Given the description of an element on the screen output the (x, y) to click on. 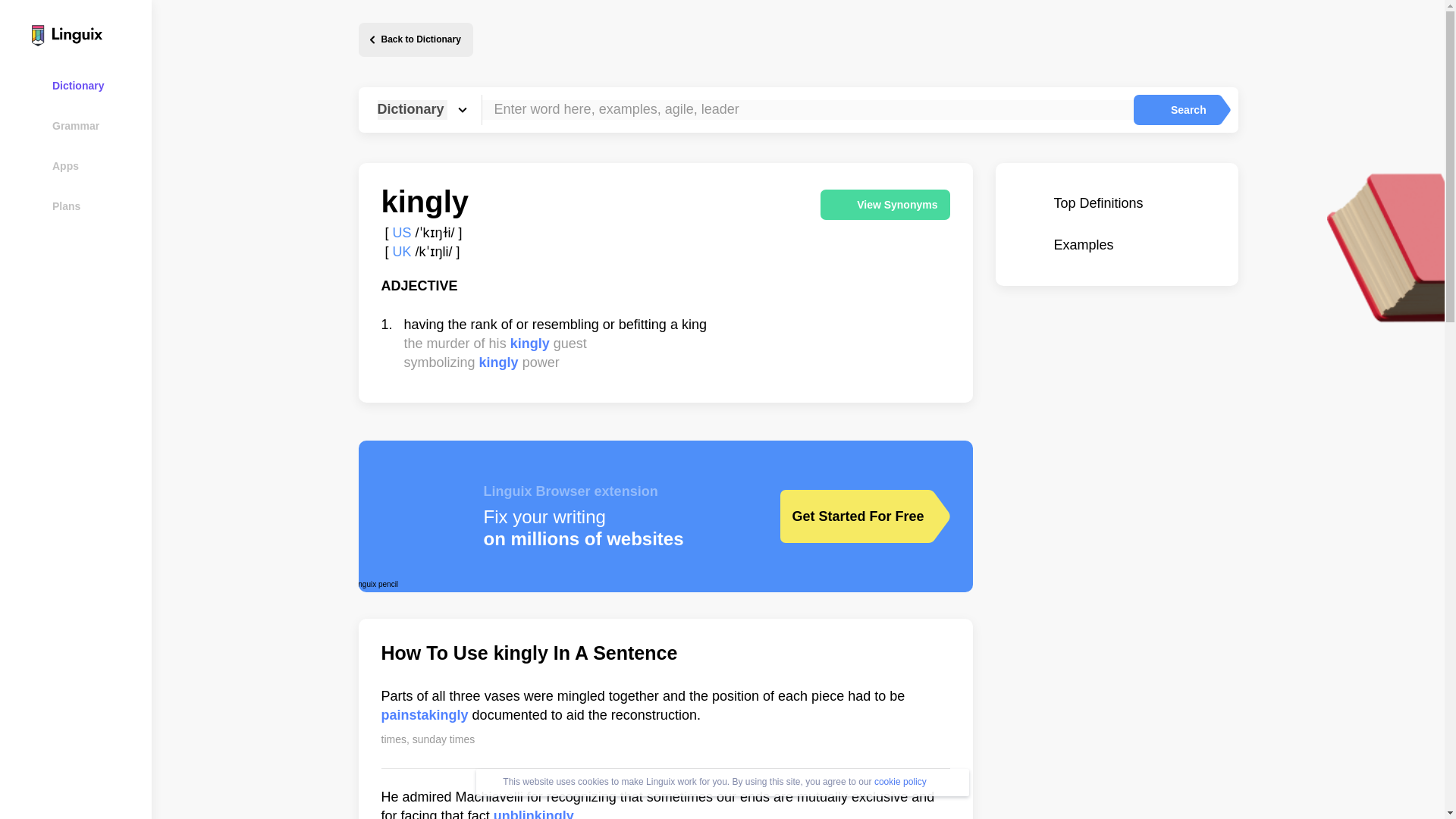
Top Definitions (1115, 203)
cookie policy (900, 781)
View Synonyms (885, 204)
Grammar (84, 126)
Search (1175, 110)
Plans (84, 206)
Apps (84, 165)
Dictionary (84, 85)
Get Started For Free (852, 515)
Examples (1115, 244)
